Given the description of an element on the screen output the (x, y) to click on. 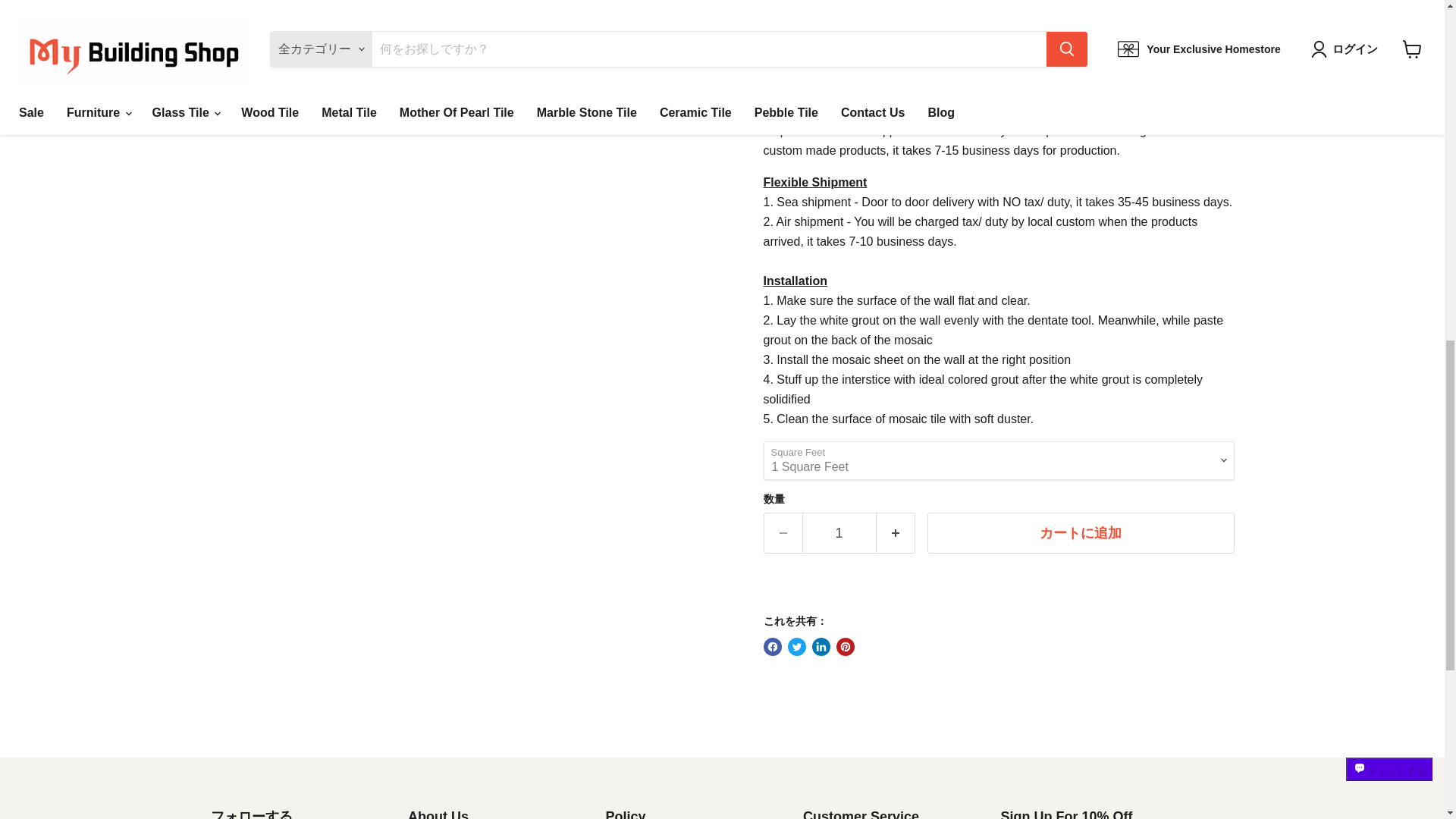
1 (839, 533)
